Given the description of an element on the screen output the (x, y) to click on. 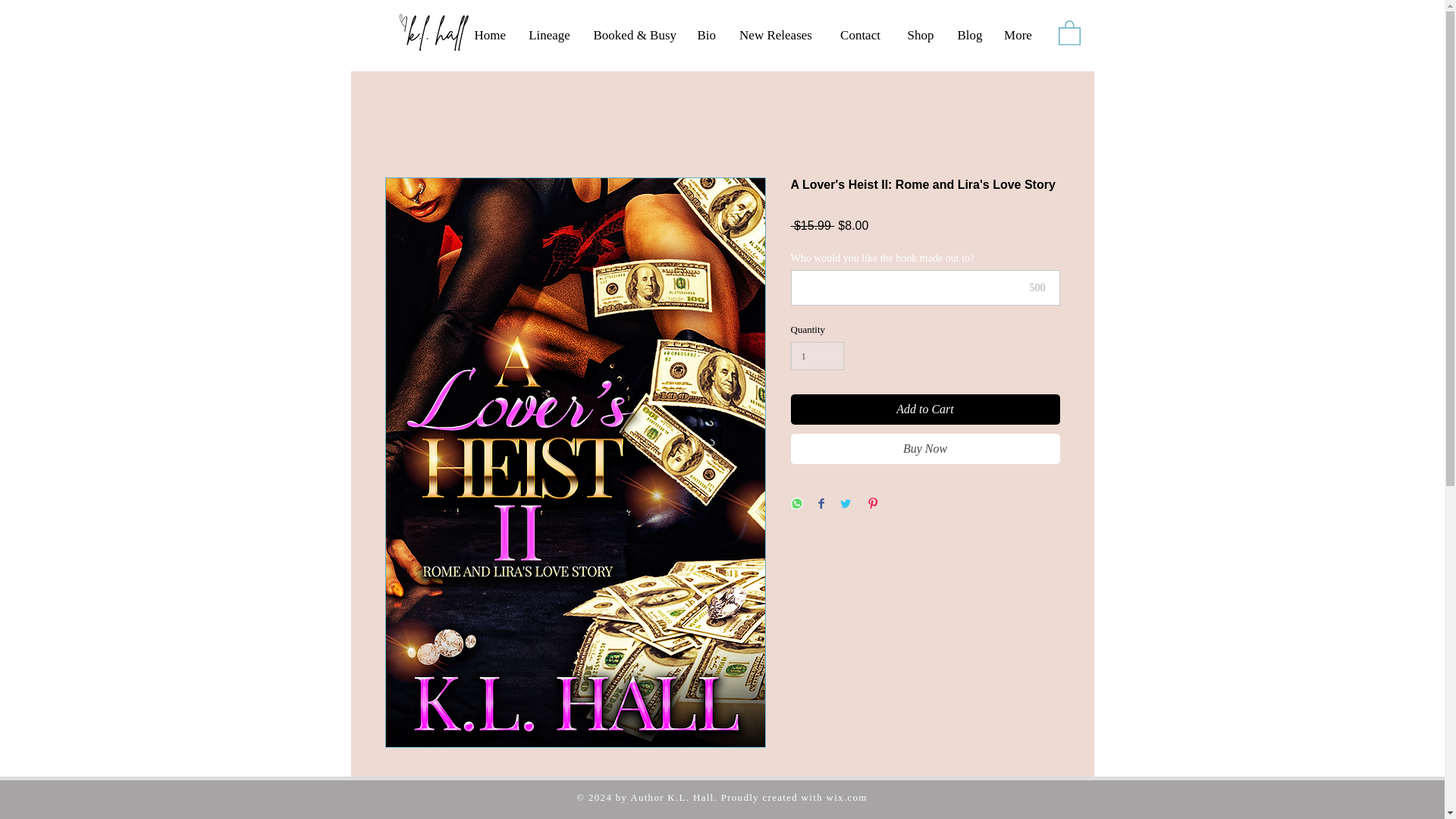
Contact (860, 35)
Blog (969, 35)
Lineage (549, 35)
New Releases (775, 35)
Buy Now (924, 449)
Shop (919, 35)
Bio (705, 35)
Add to Cart (924, 409)
Home (489, 35)
1 (817, 356)
